Given the description of an element on the screen output the (x, y) to click on. 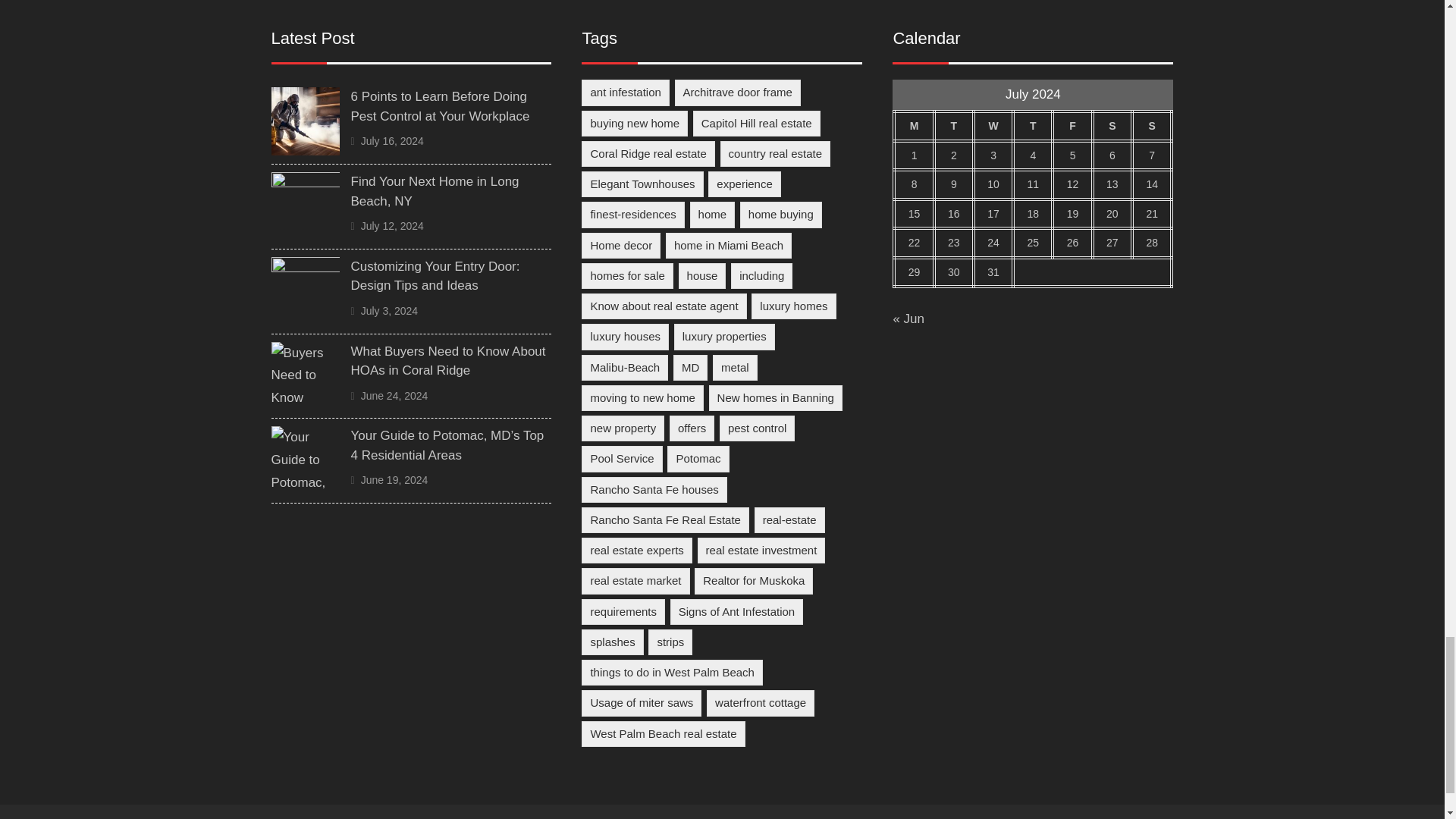
Thursday (1032, 125)
Saturday (1112, 125)
Wednesday (993, 125)
Monday (913, 125)
Tuesday (954, 125)
Sunday (1152, 125)
Friday (1072, 125)
